Given the description of an element on the screen output the (x, y) to click on. 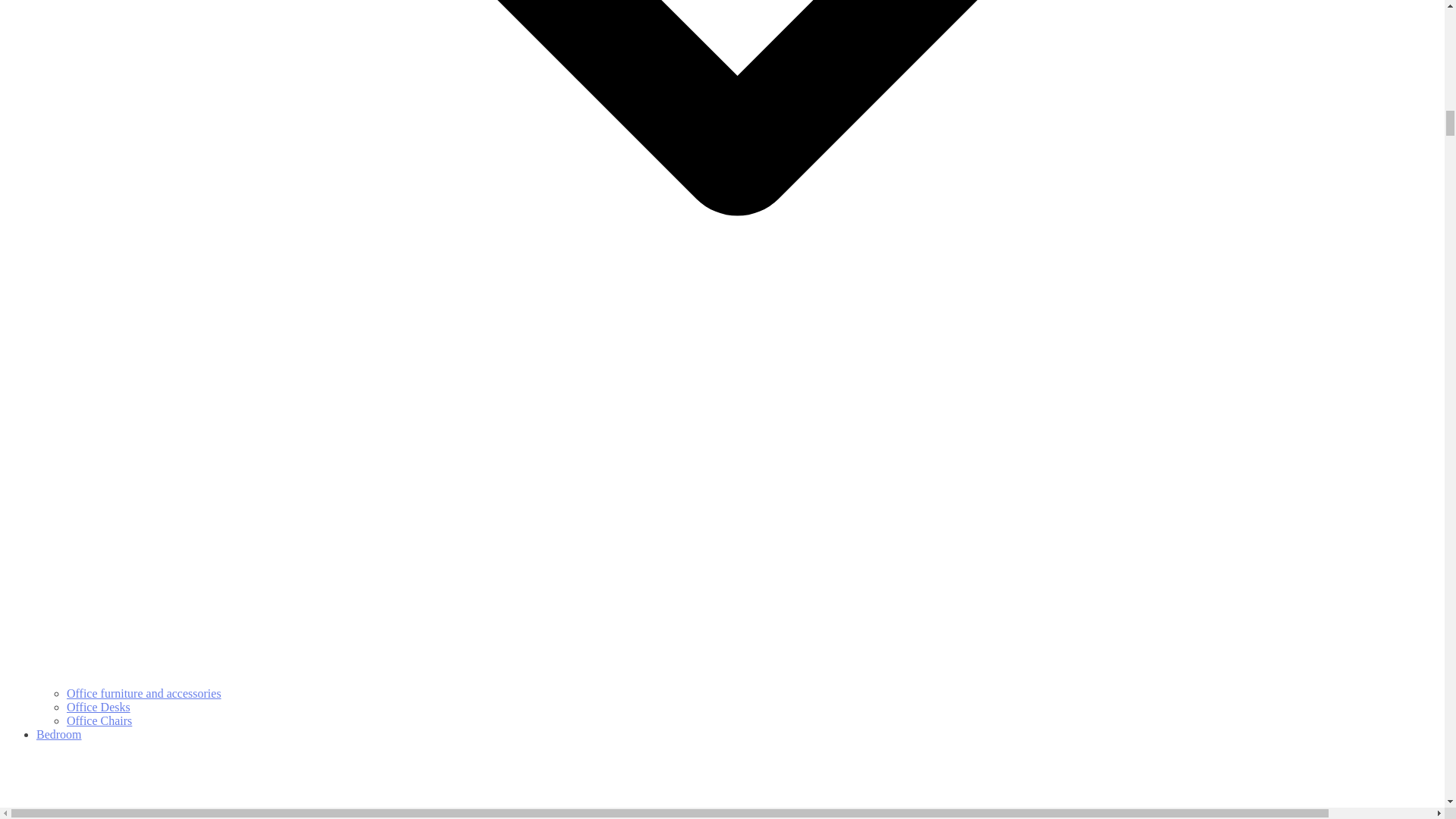
Bedroom (737, 773)
Office furniture and accessories (143, 693)
Office Desks (98, 707)
Office Chairs (99, 720)
